Given the description of an element on the screen output the (x, y) to click on. 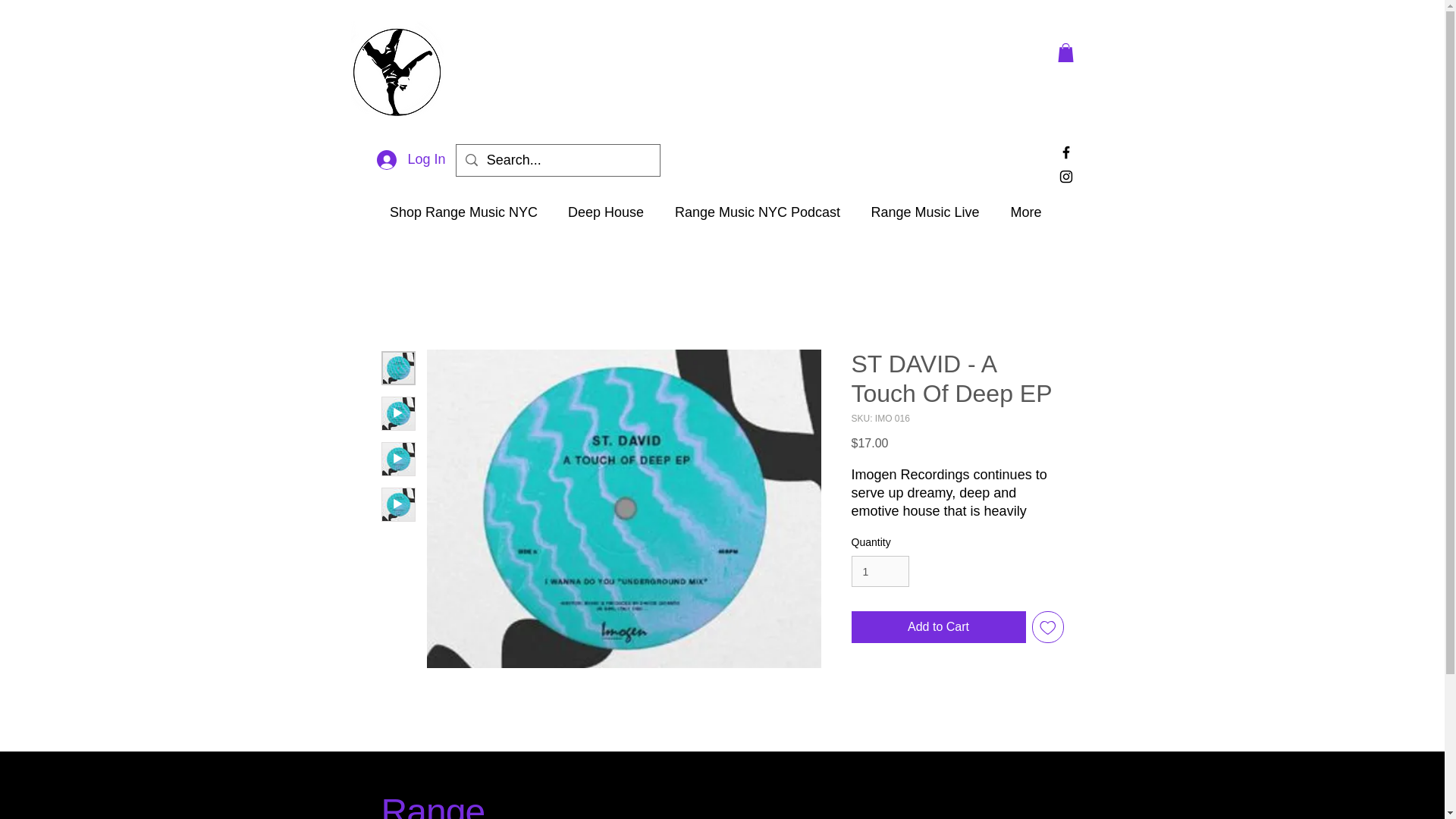
Range Music Live (925, 212)
Log In (410, 159)
Add to Cart (937, 626)
Range Music NYC Podcast (757, 212)
Shop Range Music NYC (462, 212)
Do Not Sell My Personal Information (951, 772)
1 (879, 571)
Deep House (605, 212)
